Given the description of an element on the screen output the (x, y) to click on. 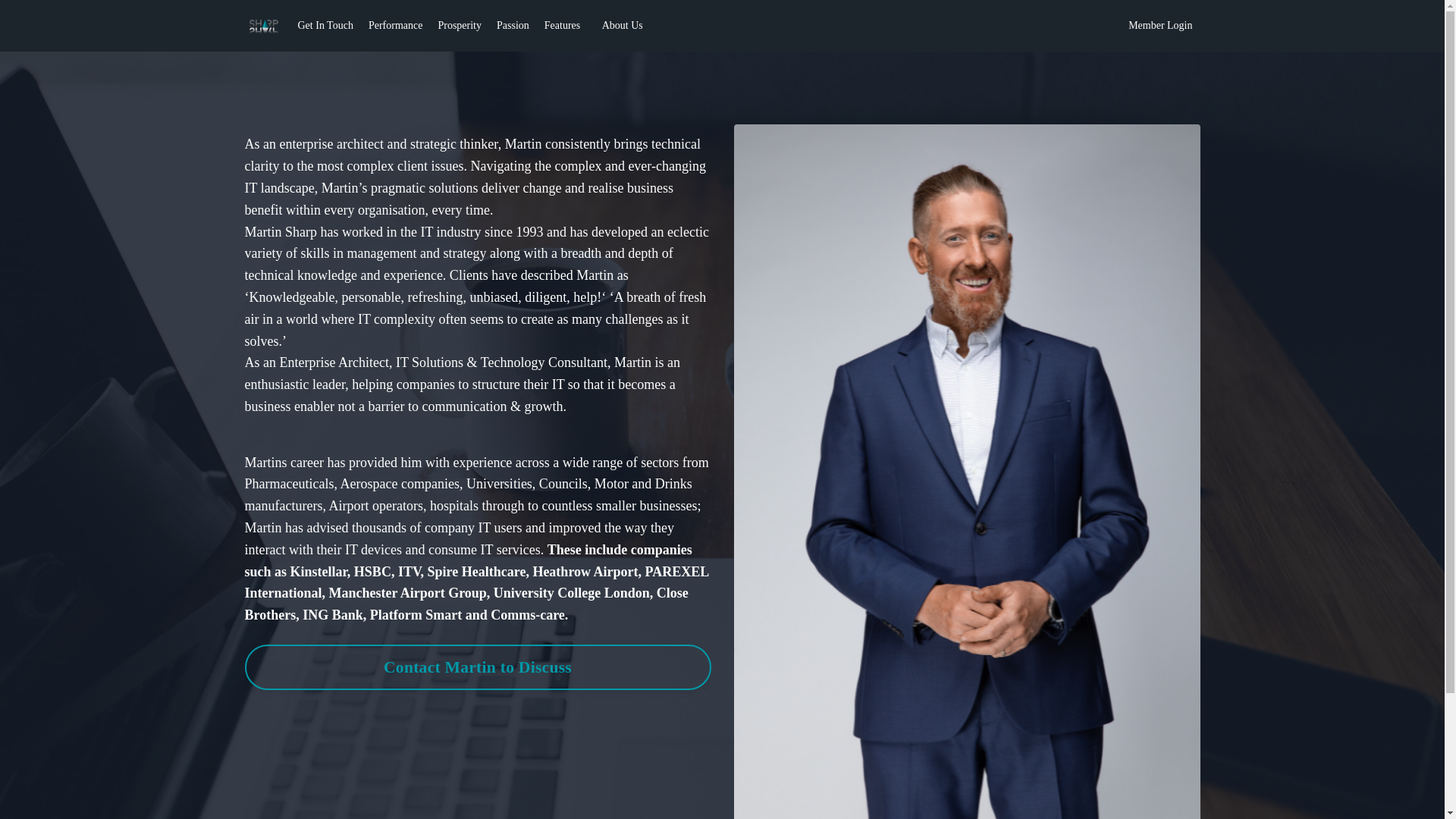
Get In Touch (324, 25)
Features (565, 25)
Member Login (1160, 25)
Contact Martin to Discuss (477, 667)
Passion (512, 25)
Performance (395, 25)
Prosperity (459, 25)
About Us (622, 25)
